Given the description of an element on the screen output the (x, y) to click on. 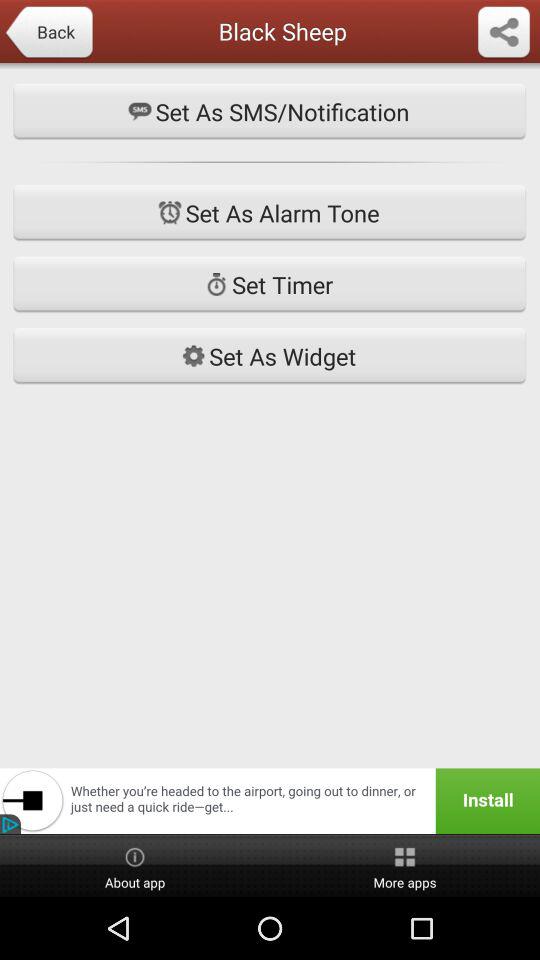
launch about app button (135, 866)
